Given the description of an element on the screen output the (x, y) to click on. 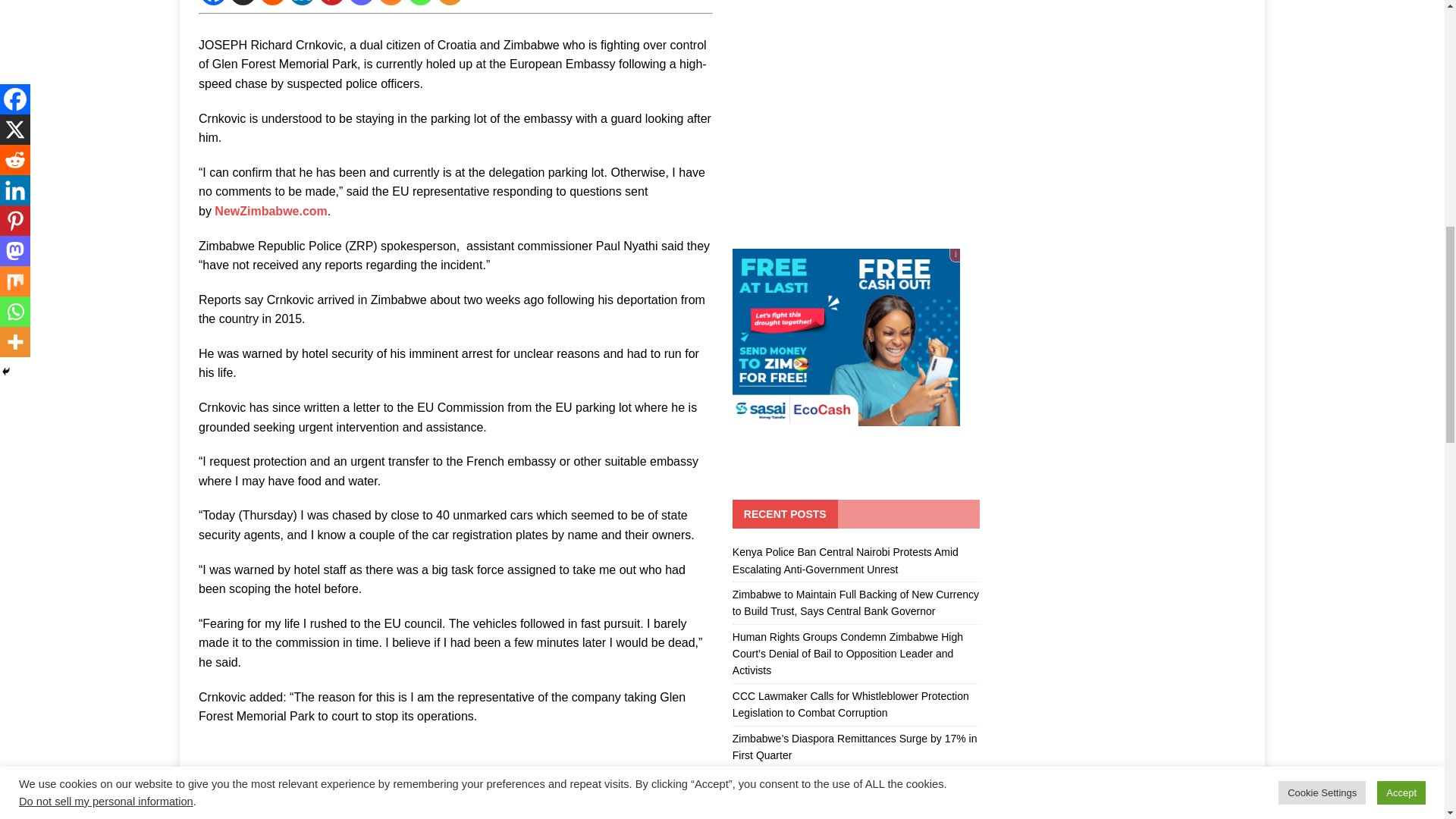
Reddit (272, 2)
Mix (390, 2)
X (243, 2)
Mastodon (360, 2)
Linkedin (301, 2)
Pinterest (331, 2)
Facebook (213, 2)
Whatsapp (420, 2)
